Given the description of an element on the screen output the (x, y) to click on. 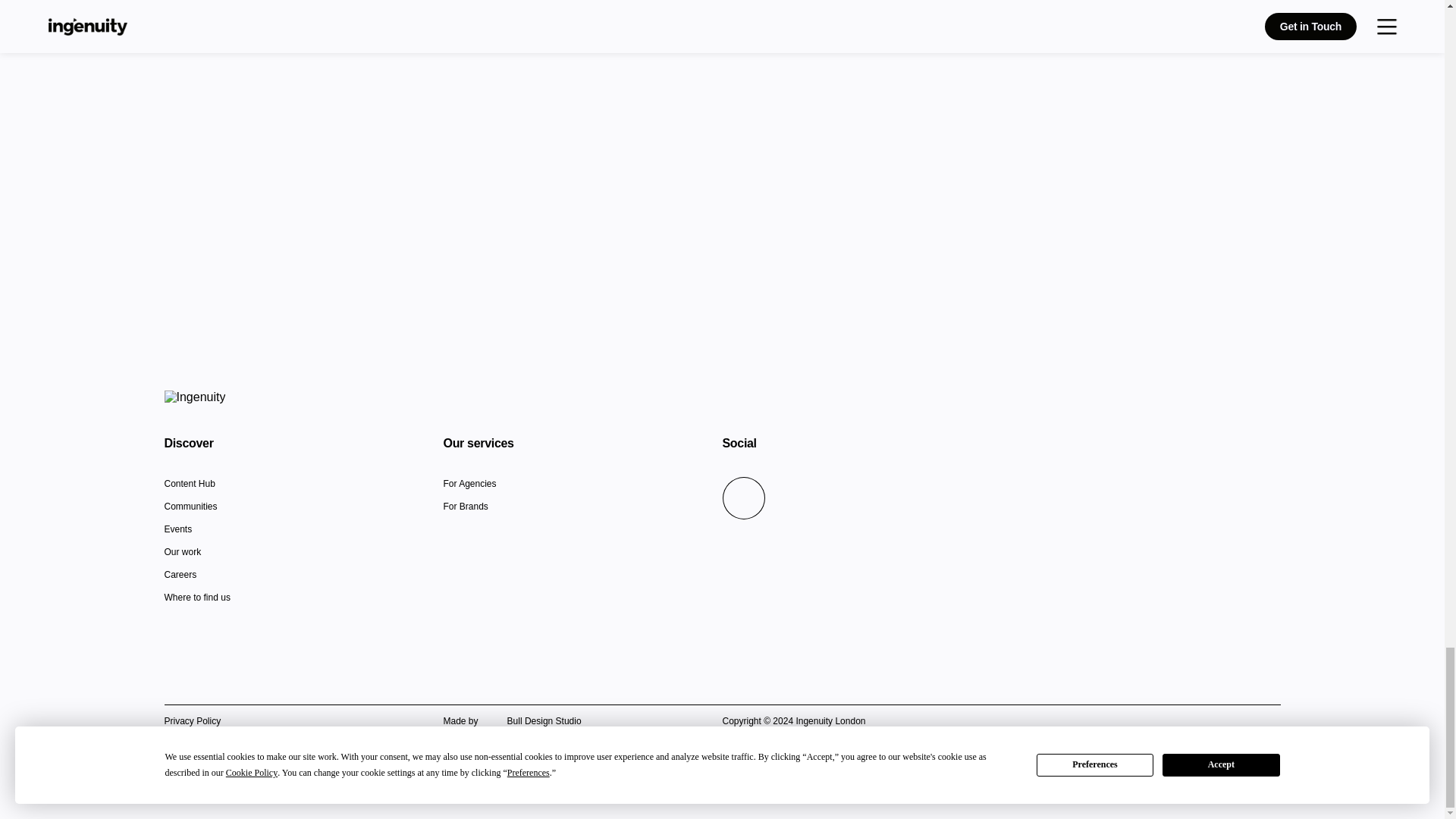
Privacy Policy (192, 721)
Bull Design Studio (529, 721)
Cookie Policy (191, 744)
Consent Preferences (205, 766)
Back to home (194, 397)
For Brands (464, 508)
Careers (179, 576)
Events (177, 530)
Where to find us (196, 599)
Communities (189, 508)
Our work (181, 553)
Content Hub (188, 485)
For Agencies (469, 485)
